Given the description of an element on the screen output the (x, y) to click on. 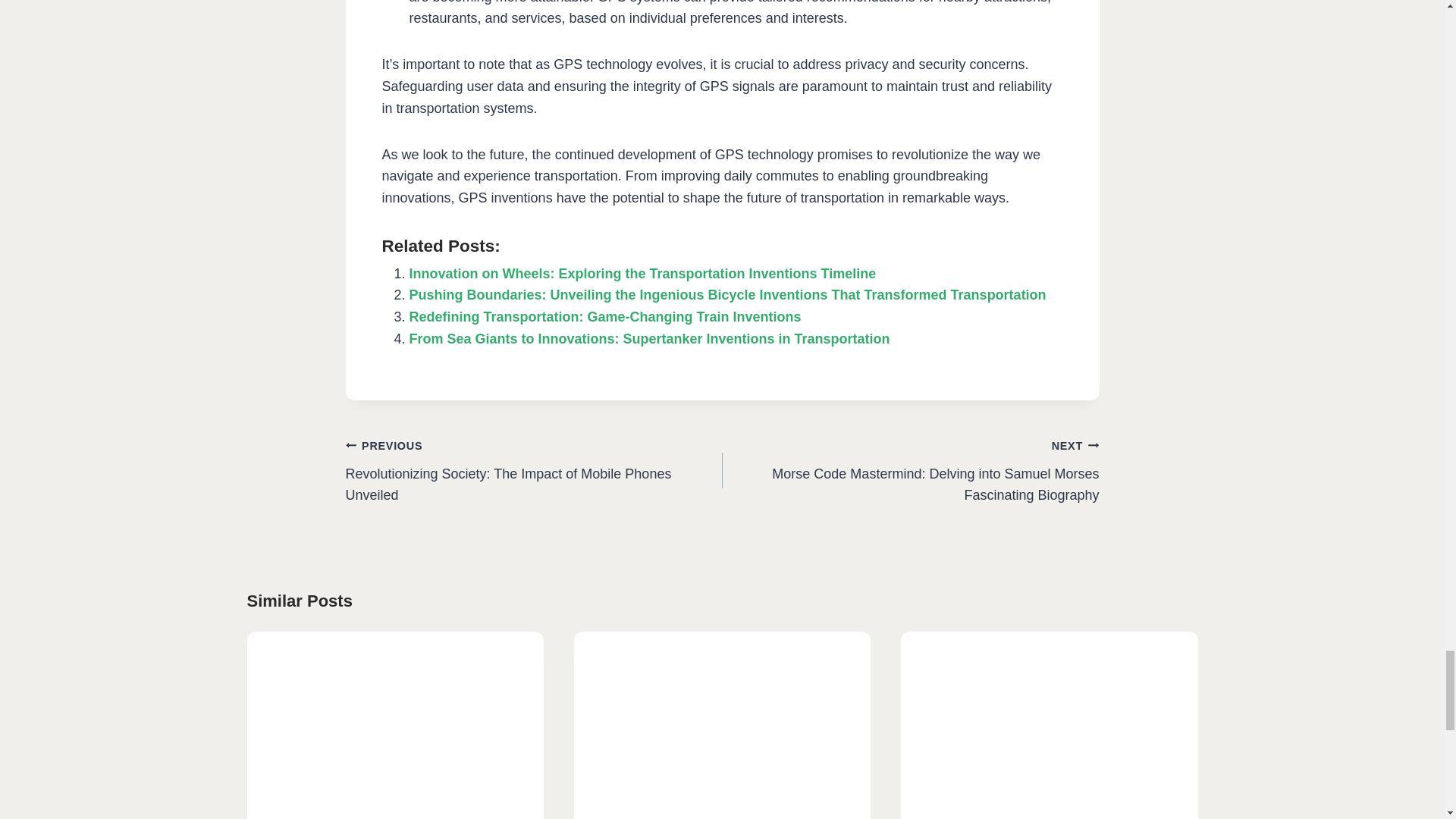
Redefining Transportation: Game-Changing Train Inventions (605, 316)
Redefining Transportation: Game-Changing Train Inventions (605, 316)
